Given the description of an element on the screen output the (x, y) to click on. 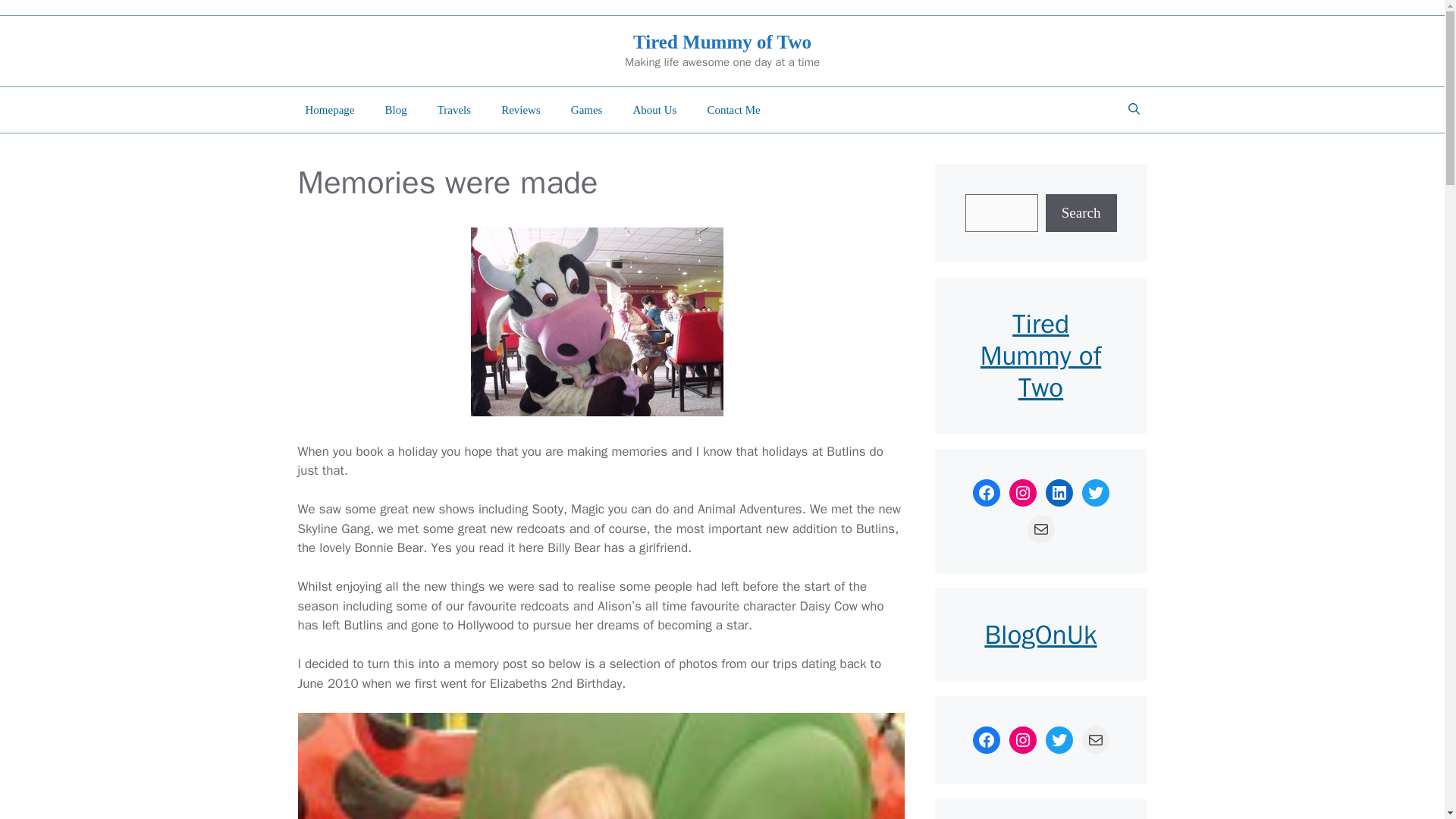
Instagram (1022, 492)
About Us (654, 108)
Blog (395, 108)
Games (586, 108)
Facebook (985, 492)
Travels (454, 108)
Contact Me (732, 108)
LinkedIn (1058, 492)
Twitter (1094, 492)
Tired Mummy of Two (721, 41)
